Given the description of an element on the screen output the (x, y) to click on. 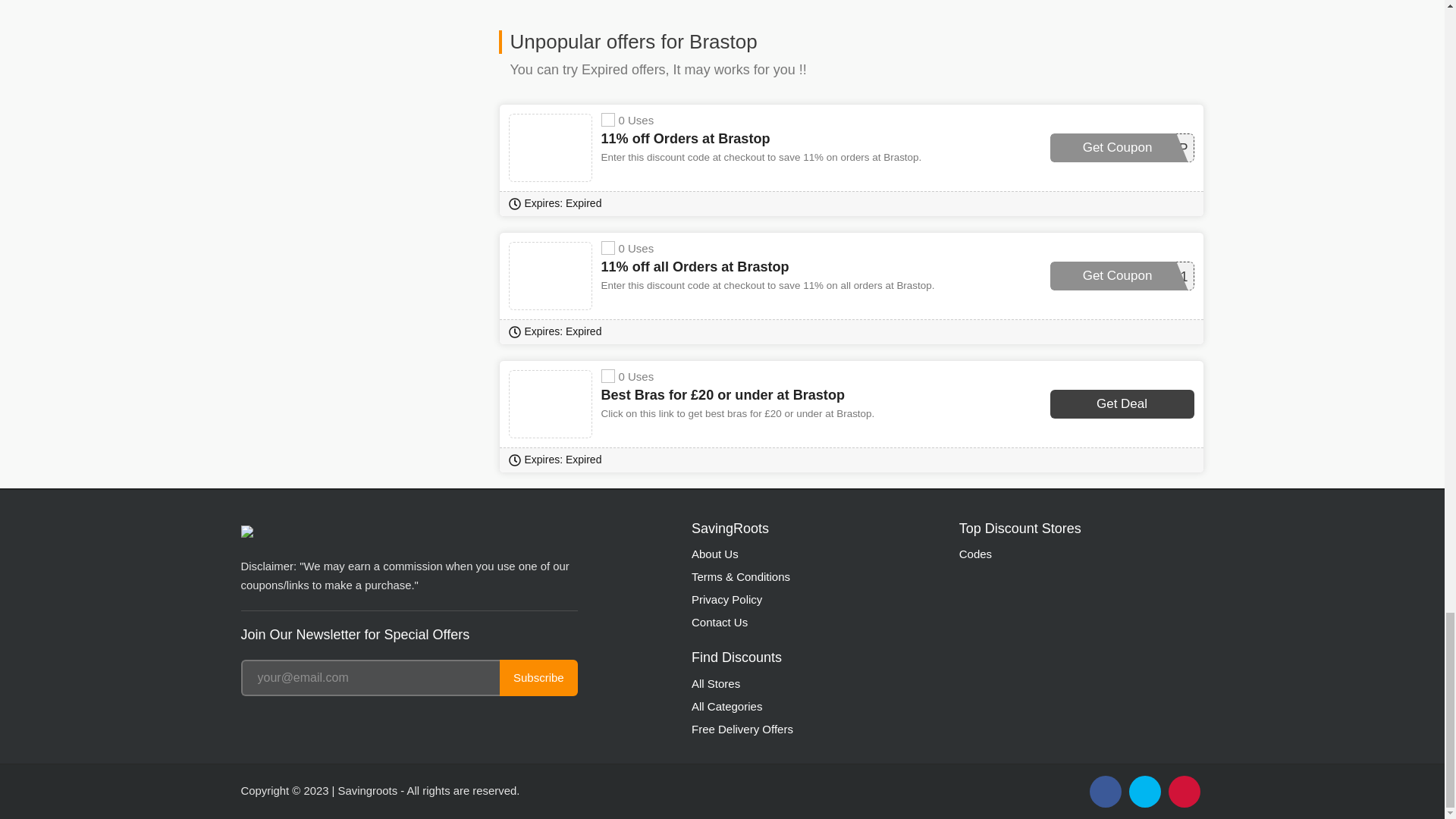
Subscribe (538, 678)
